Given the description of an element on the screen output the (x, y) to click on. 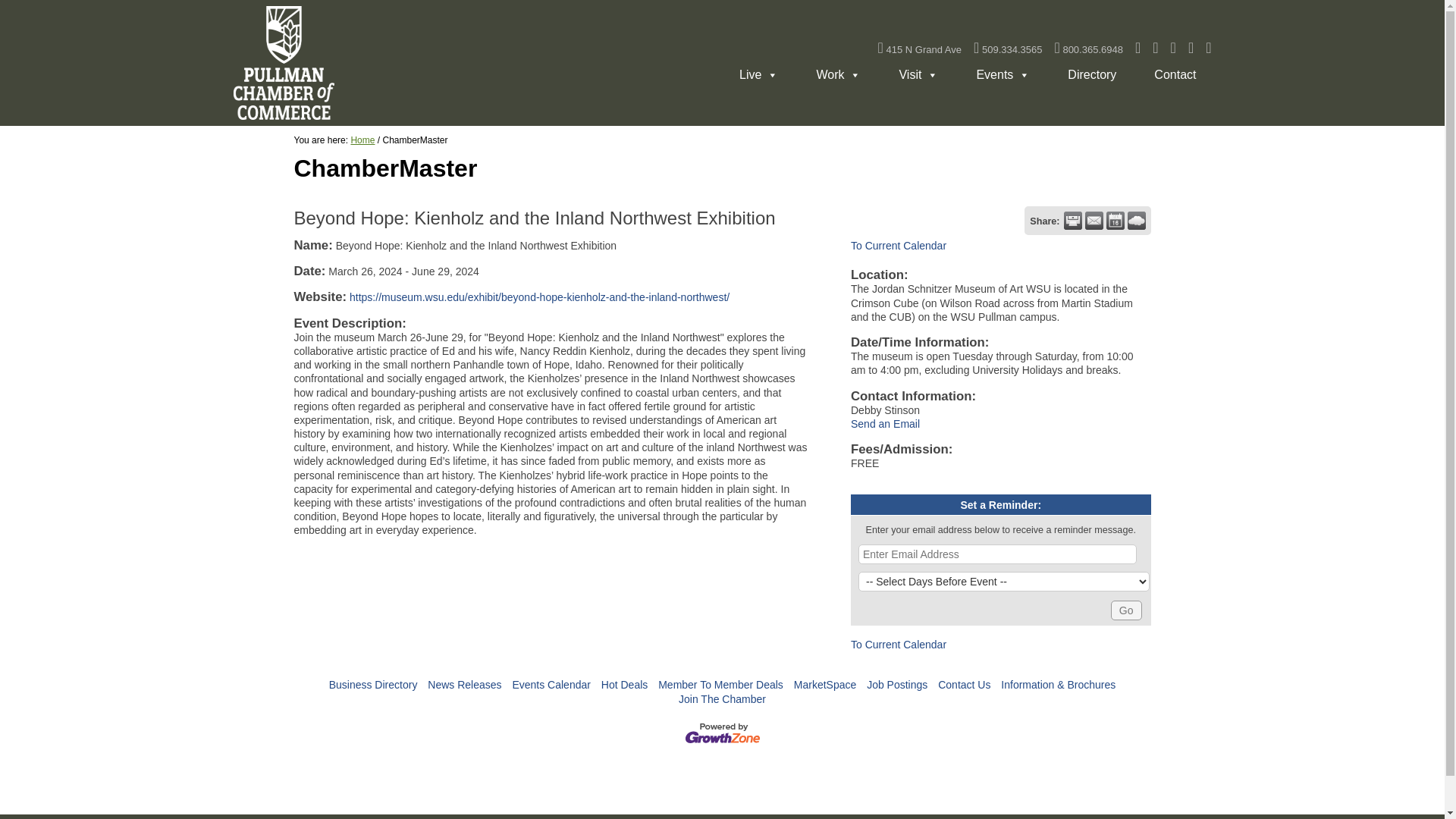
509.334.3565 (1008, 49)
Email to a Friend (1093, 220)
Work (834, 71)
415 N Grand Ave (918, 49)
View Current Weather (1135, 220)
Print this Page (1071, 220)
Live (754, 71)
800.365.6948 (1088, 49)
Enter Email Address (998, 554)
Add to Calendar (1114, 220)
Go (1125, 609)
